Given the description of an element on the screen output the (x, y) to click on. 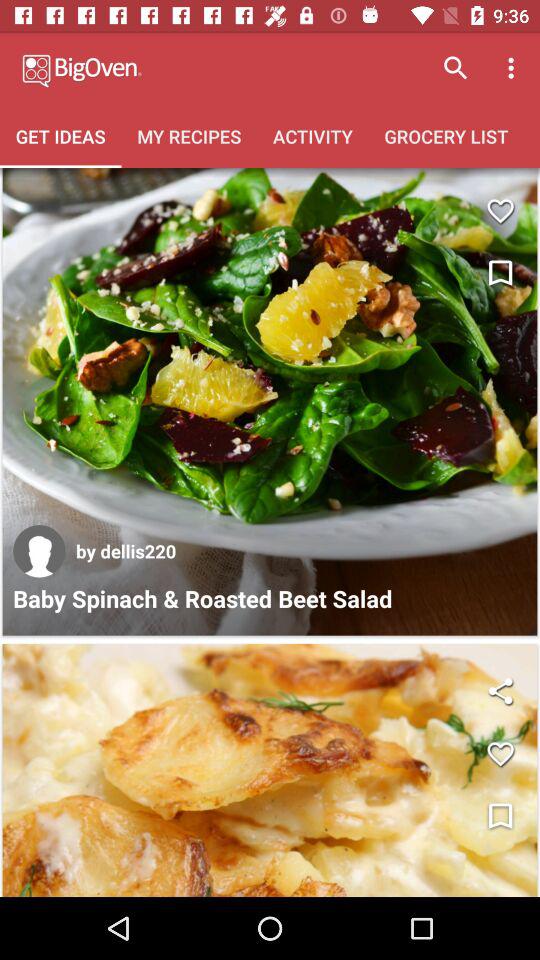
view user info (39, 551)
